Given the description of an element on the screen output the (x, y) to click on. 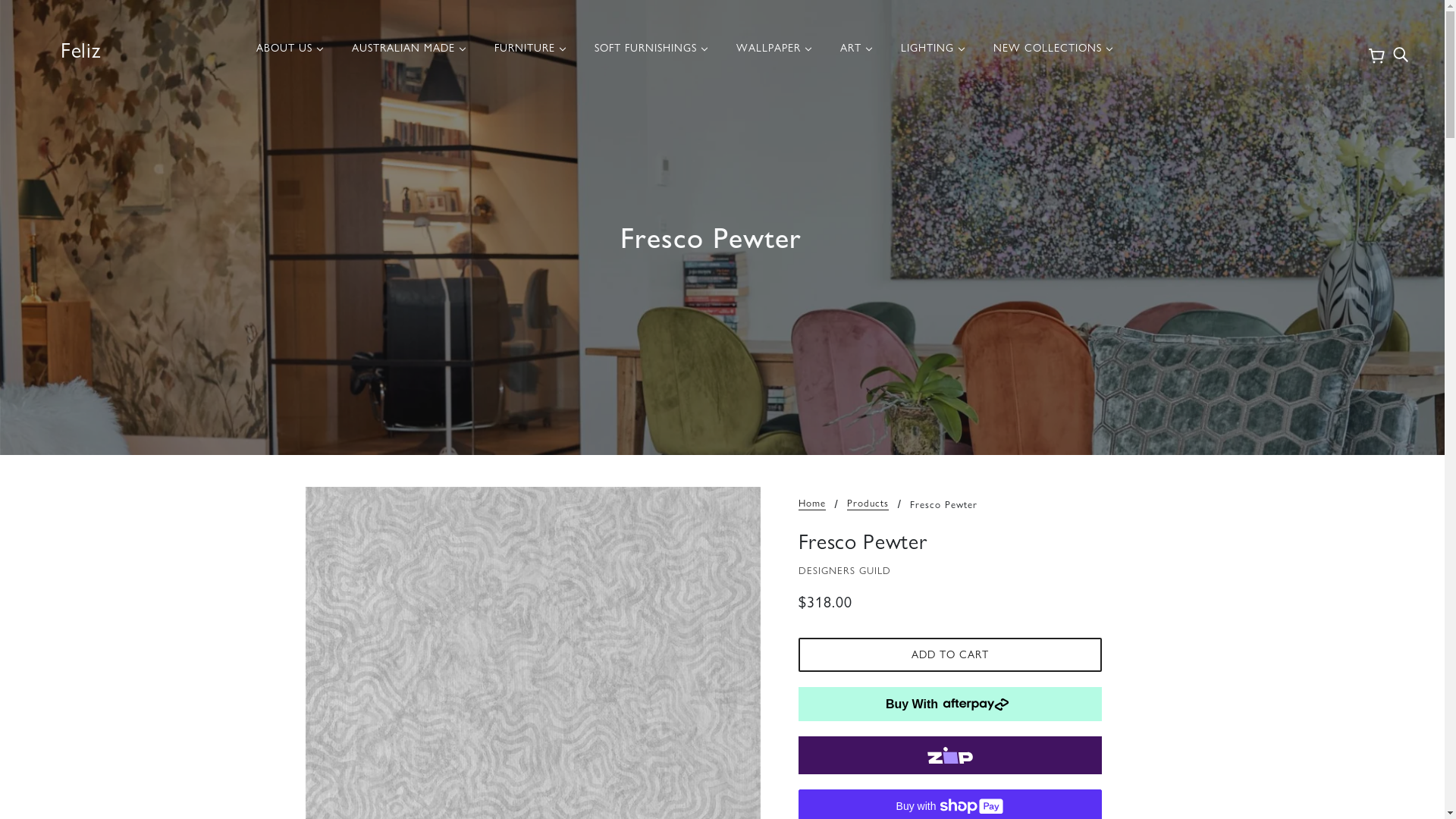
NEW COLLECTIONS Element type: text (1053, 53)
DESIGNERS GUILD Element type: text (843, 570)
ABOUT US Element type: text (289, 53)
Home Element type: text (811, 504)
WALLPAPER Element type: text (774, 53)
AUSTRALIAN MADE Element type: text (408, 53)
SOFT FURNISHINGS Element type: text (651, 53)
ADD TO CART Element type: text (949, 654)
Products Element type: text (867, 504)
FURNITURE Element type: text (530, 53)
ART Element type: text (856, 53)
LIGHTING Element type: text (932, 53)
Feliz Element type: text (80, 49)
